Given the description of an element on the screen output the (x, y) to click on. 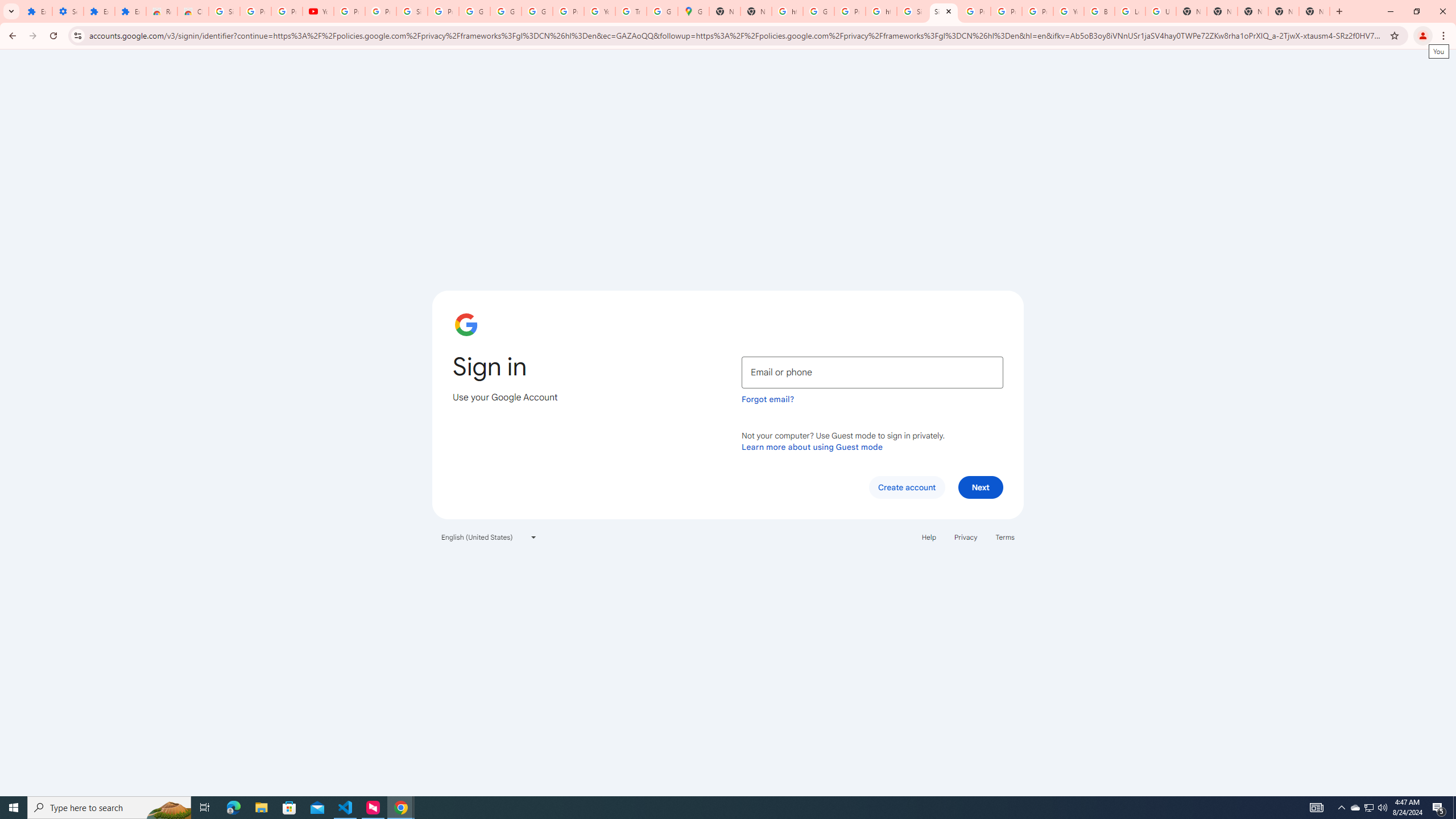
Sign in - Google Accounts (943, 11)
Extensions (36, 11)
Create account (905, 486)
Email or phone (872, 372)
